Given the description of an element on the screen output the (x, y) to click on. 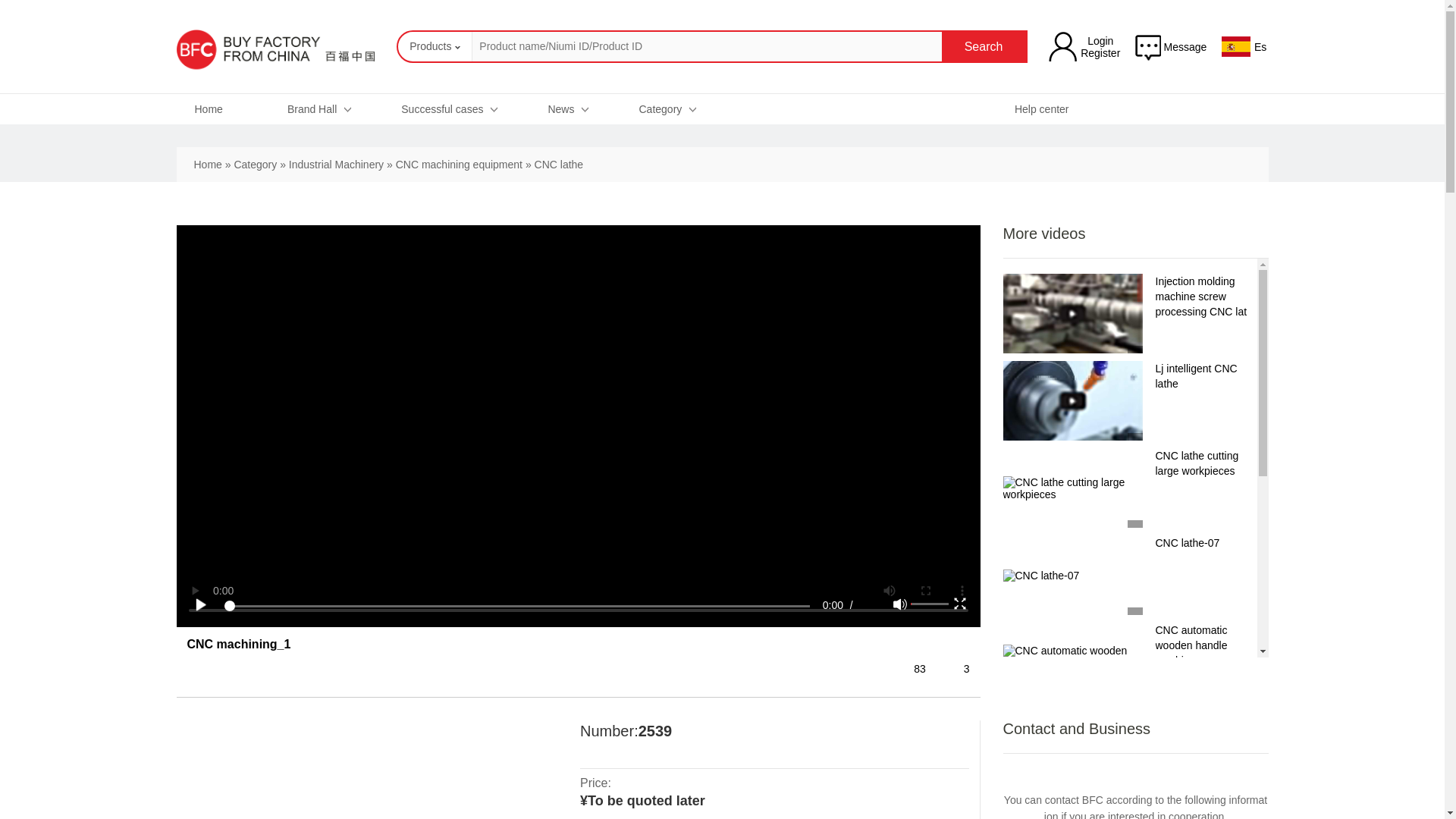
Message (1170, 47)
Injection molding machine screw processing CNC lat (1201, 296)
Successful cases (449, 109)
Home (215, 109)
Help center (1041, 109)
Home (207, 164)
Es (1259, 46)
CNC lathe (558, 164)
Lj intelligent CNC lathe (1196, 375)
Search (984, 46)
Brand Hall (319, 109)
Login (1099, 40)
Industrial Machinery (336, 164)
Register (1099, 52)
Search (984, 46)
